Given the description of an element on the screen output the (x, y) to click on. 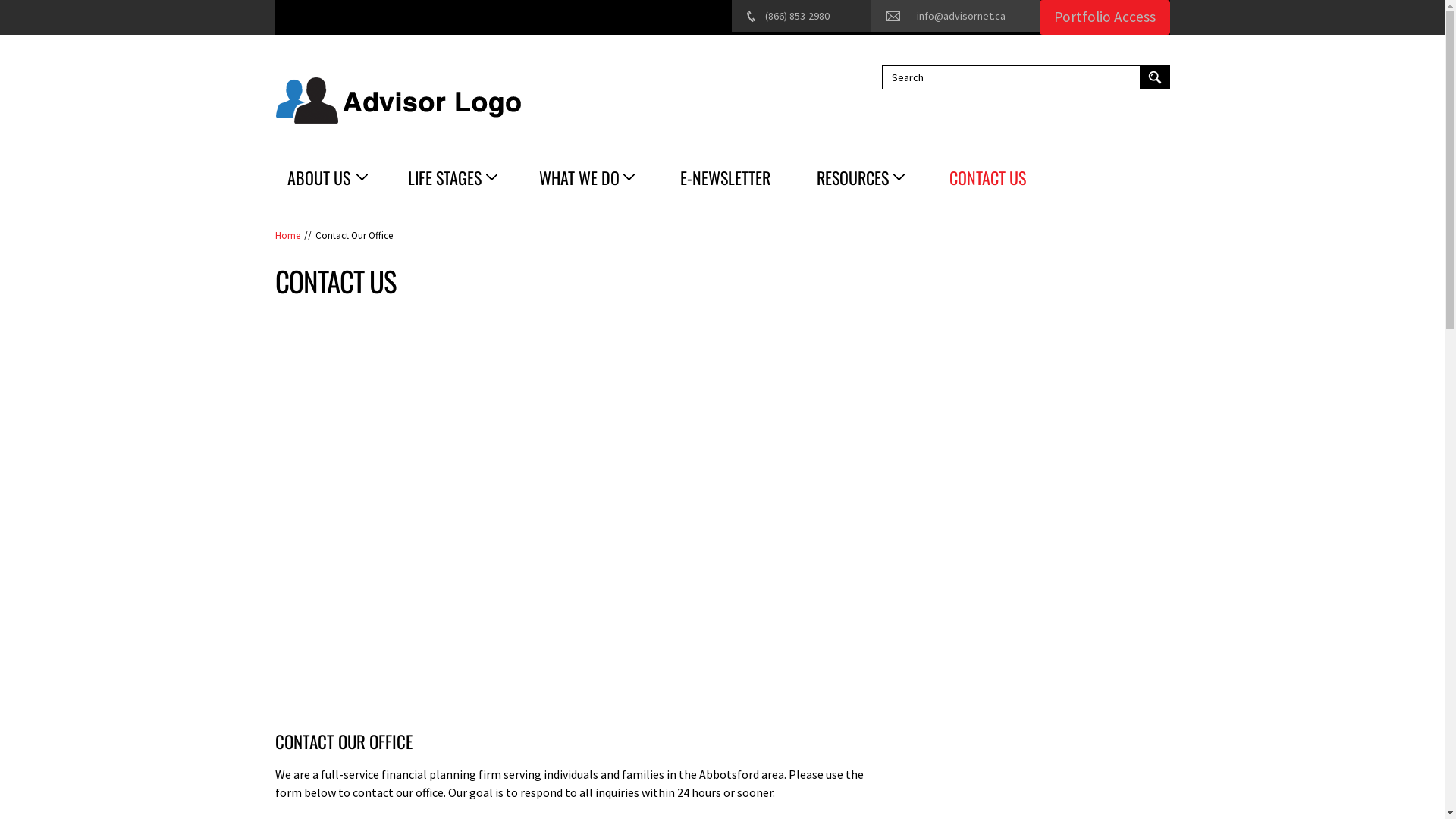
info@advisornet.ca Element type: text (960, 15)
WHAT WE DO Element type: text (585, 177)
E-NEWSLETTER Element type: text (724, 177)
RESOURCES Element type: text (858, 177)
LIFE STAGES Element type: text (451, 177)
Home Element type: hover (397, 101)
CONTACT US Element type: text (987, 177)
Home Element type: text (286, 235)
Skip to main content Element type: text (54, 0)
Portfolio Access Element type: text (1103, 17)
ABOUT US Element type: text (325, 177)
(866) 853-2980 Element type: text (796, 15)
